Given the description of an element on the screen output the (x, y) to click on. 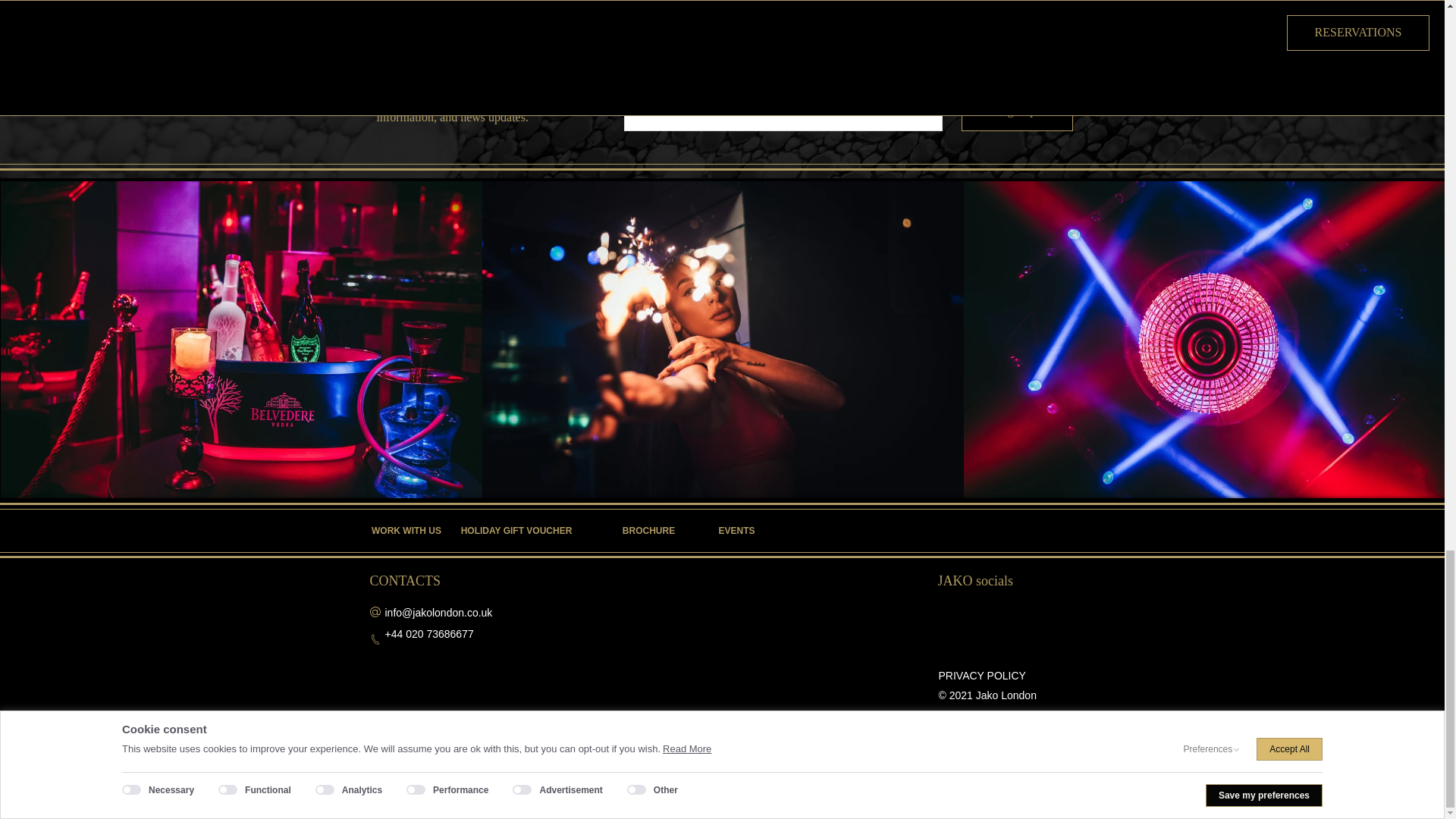
EVENTS (736, 530)
BROCHURE (649, 530)
WORK WITH US (406, 530)
HOLIDAY GIFT VOUCHER (516, 530)
Sign Up (1016, 111)
